Given the description of an element on the screen output the (x, y) to click on. 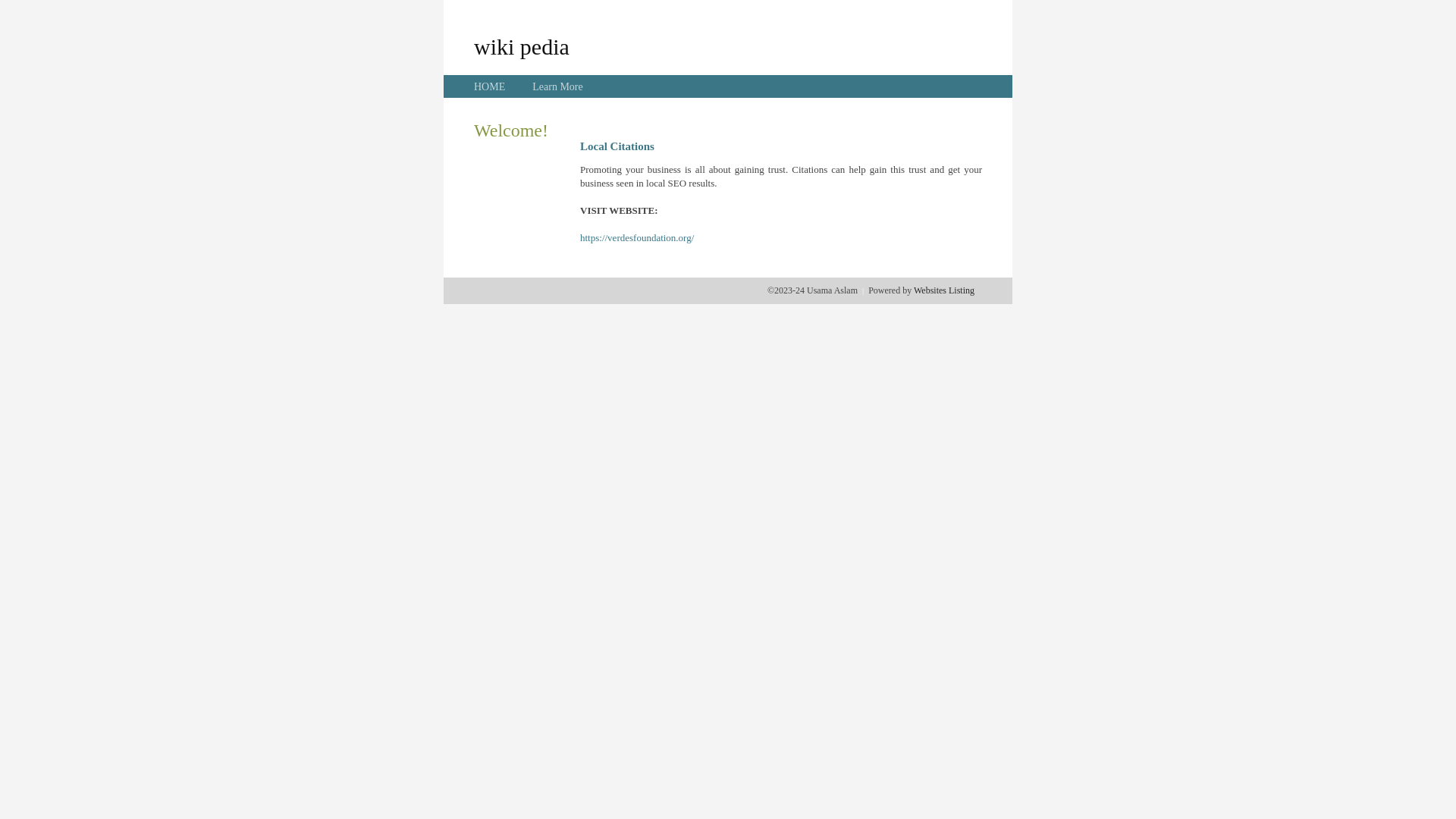
Learn More Element type: text (557, 86)
Websites Listing Element type: text (943, 290)
https://verdesfoundation.org/ Element type: text (636, 237)
wiki pedia Element type: text (521, 46)
HOME Element type: text (489, 86)
